Given the description of an element on the screen output the (x, y) to click on. 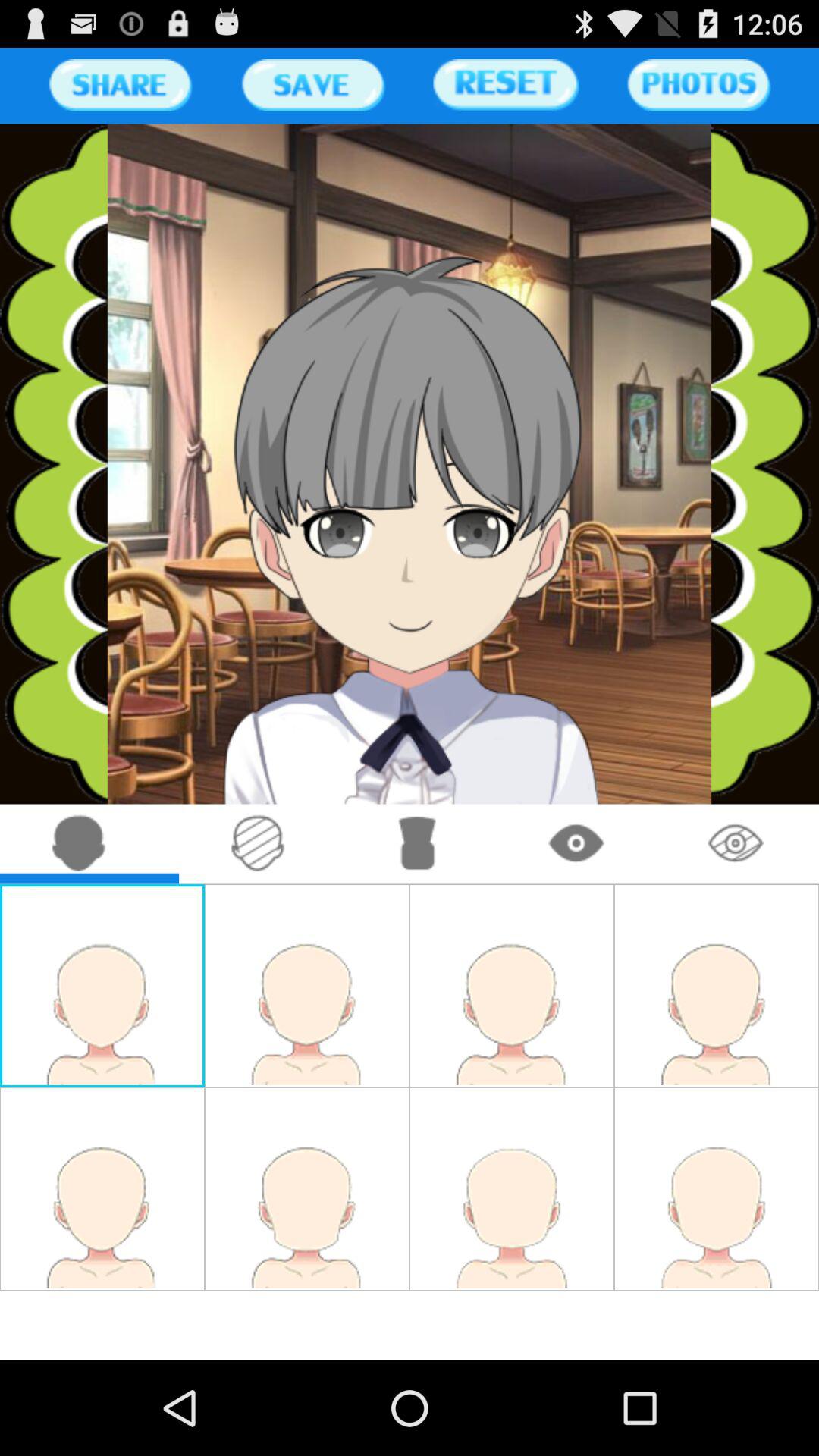
reset (505, 85)
